Given the description of an element on the screen output the (x, y) to click on. 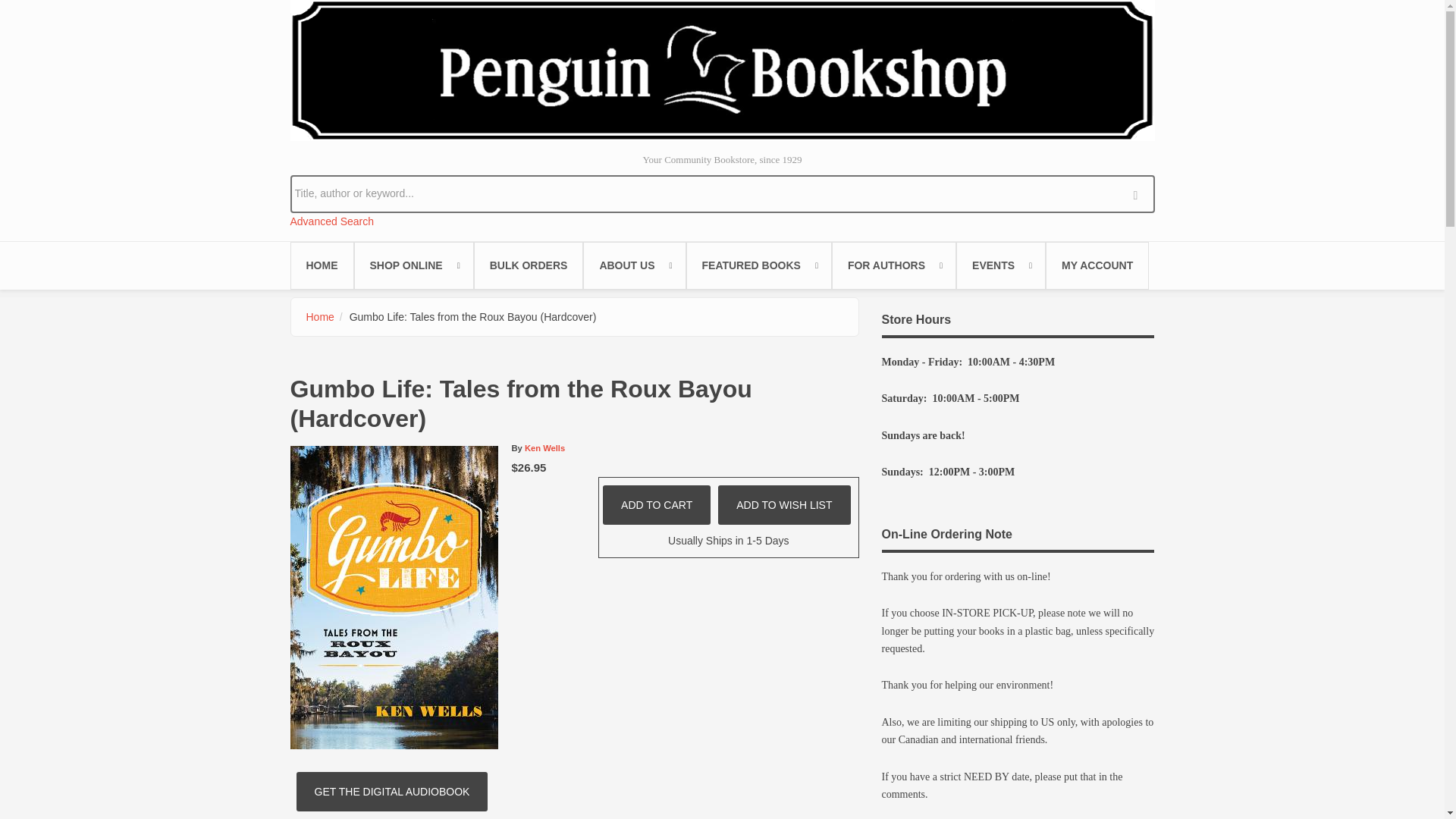
EVENTS (1000, 265)
FEATURED BOOKS (758, 265)
Ken Wells (544, 447)
Get the Digital Audiobook (392, 791)
Self-published author information (893, 265)
Home (319, 316)
ADD TO WISH LIST (783, 504)
Add to Cart (656, 504)
HOME (321, 265)
Add to Cart (656, 504)
ABOUT US (634, 265)
Home (721, 69)
Title, author or keyword... (721, 193)
SHOP ONLINE (413, 265)
FOR AUTHORS (893, 265)
